Given the description of an element on the screen output the (x, y) to click on. 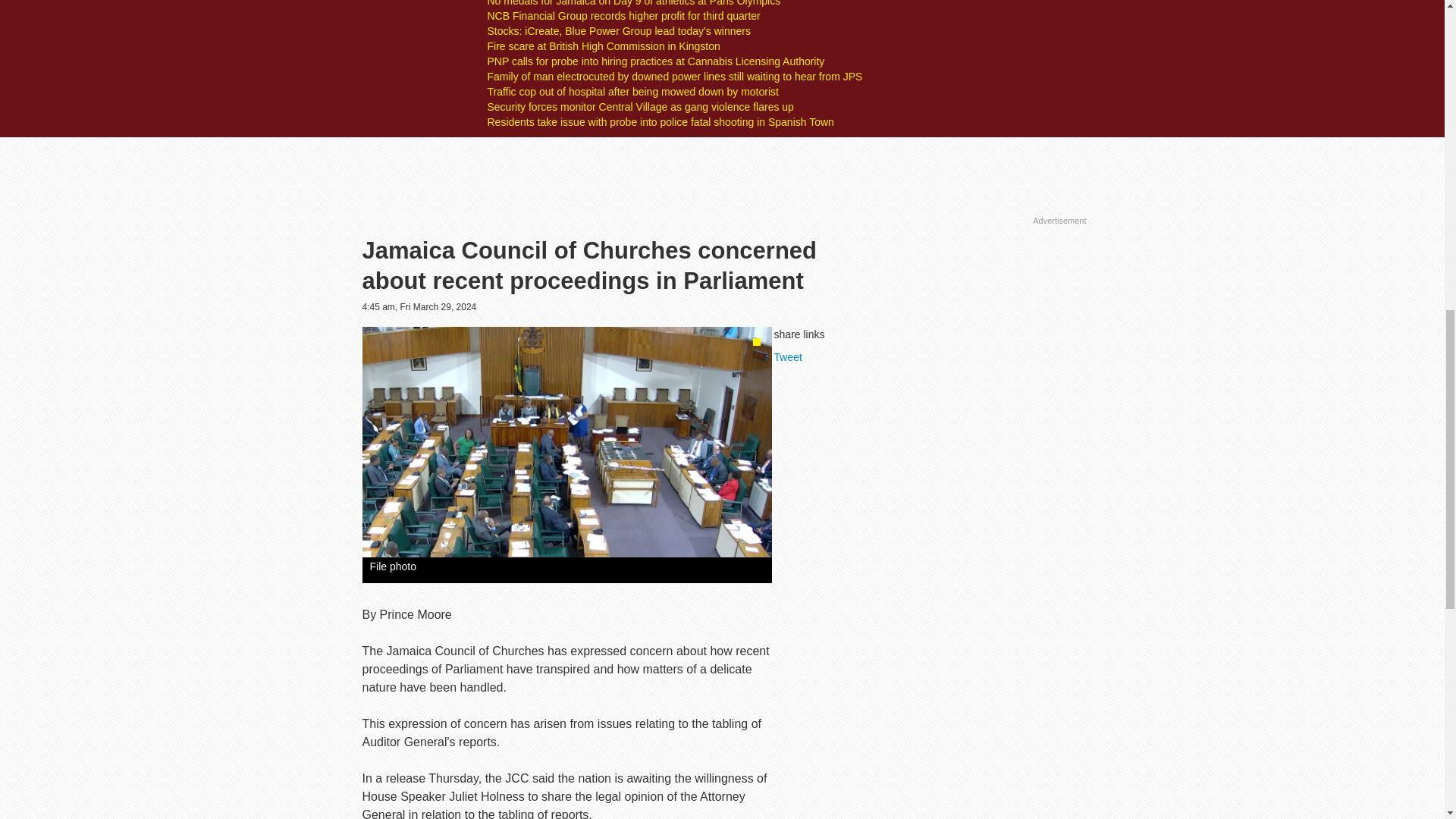
Tweet (788, 357)
Fire scare at British High Commission in Kingston (602, 46)
Stocks: iCreate, Blue Power Group lead today's winners (617, 30)
NCB Financial Group records higher profit for third quarter (623, 15)
